Given the description of an element on the screen output the (x, y) to click on. 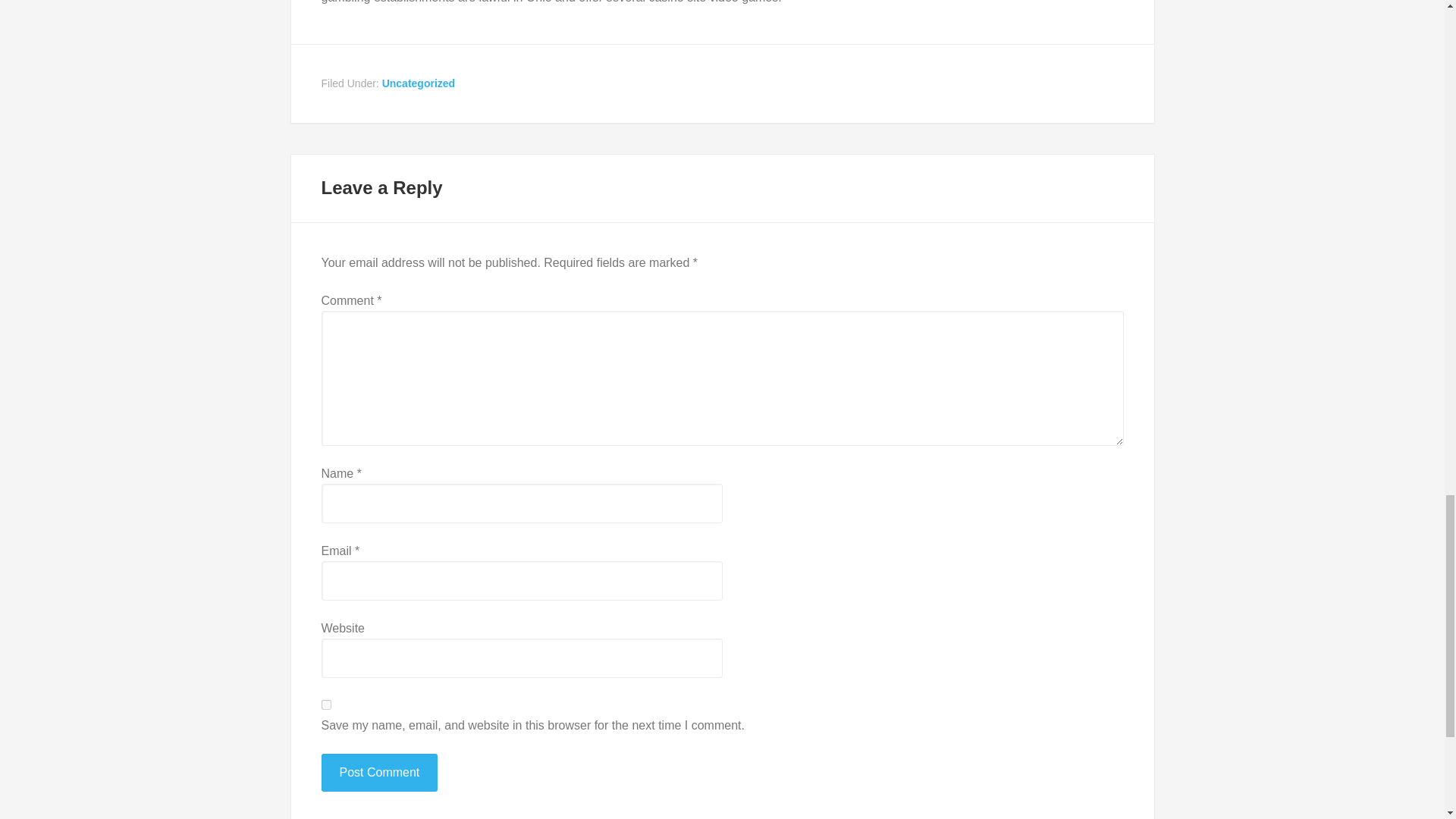
Post Comment (379, 772)
Post Comment (379, 772)
yes (326, 705)
Uncategorized (417, 82)
